Given the description of an element on the screen output the (x, y) to click on. 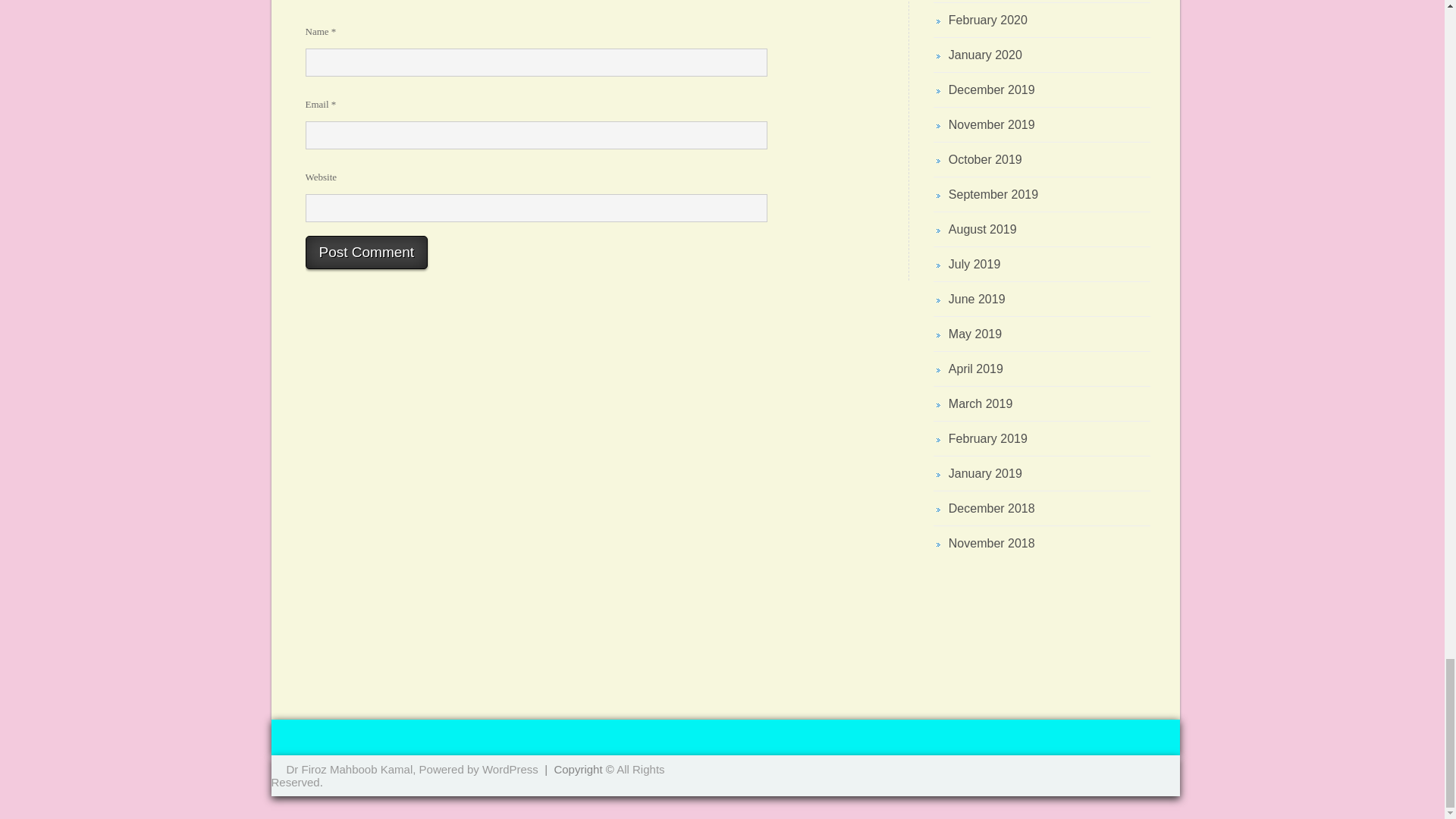
Post Comment (366, 252)
